Given the description of an element on the screen output the (x, y) to click on. 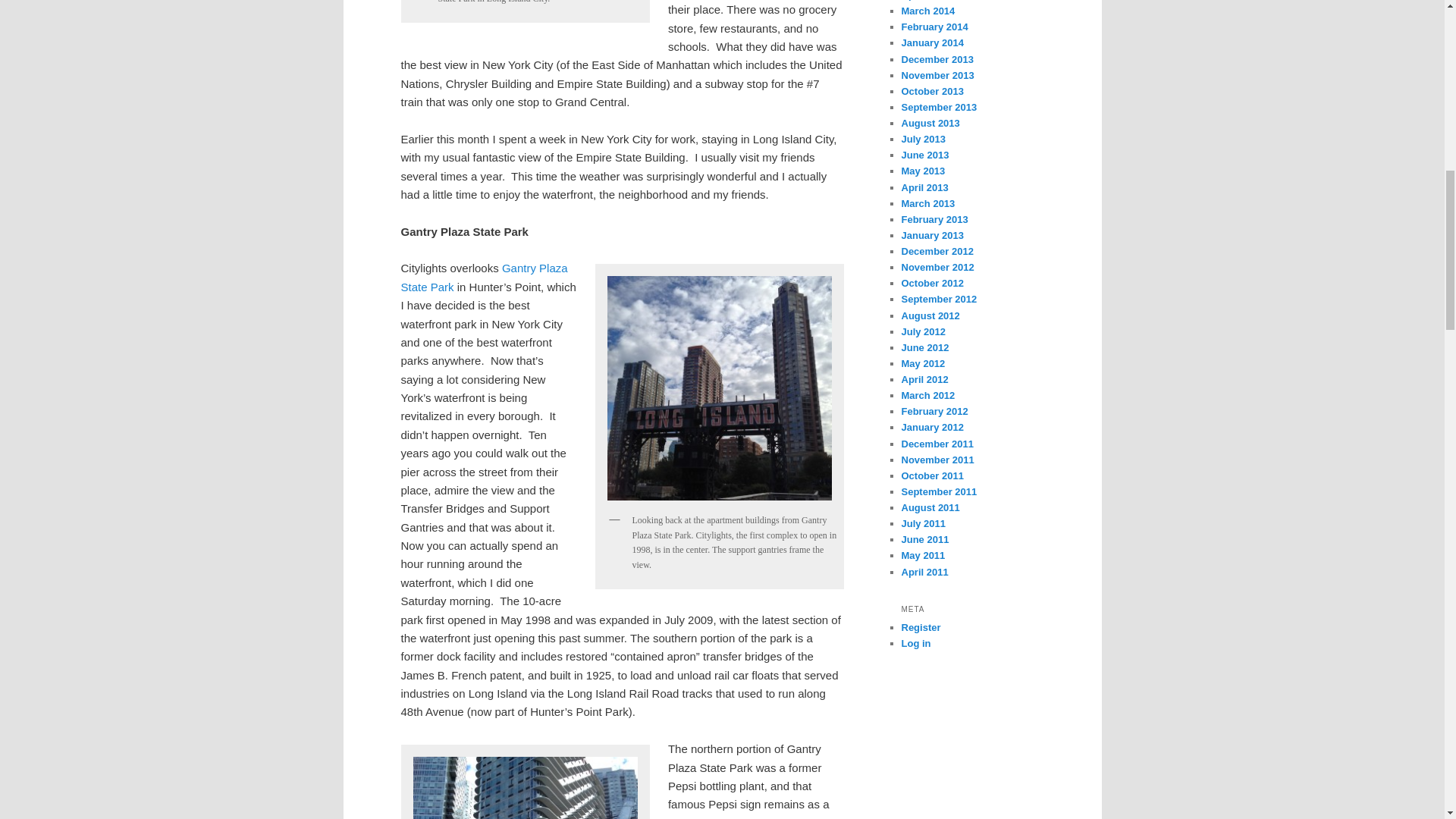
Gantry Plaza State Park (483, 276)
Gantry Plaza State Park (483, 276)
